Given the description of an element on the screen output the (x, y) to click on. 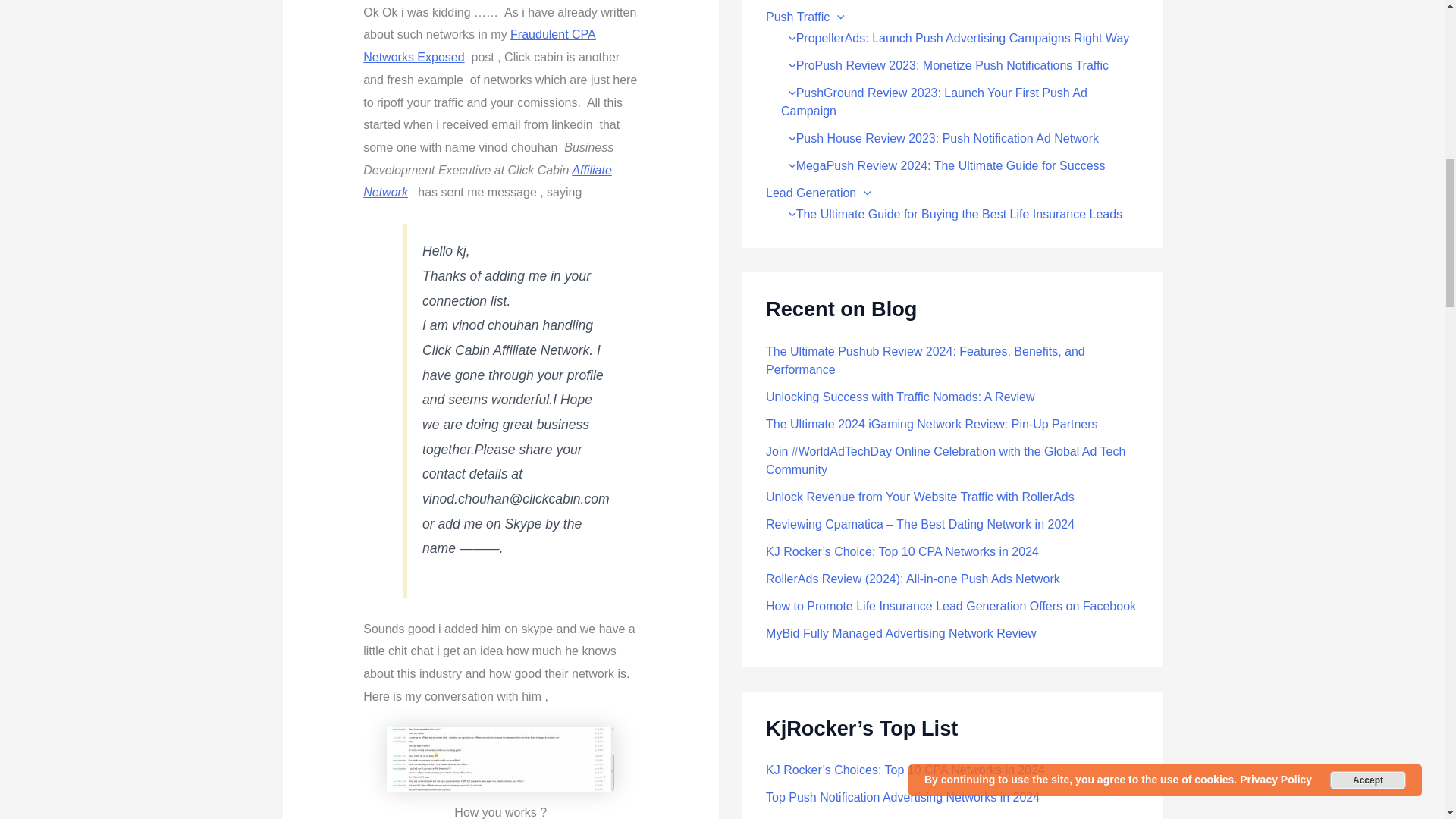
Affiliate Network (486, 181)
Fraudulent CPA Networks Exposed (478, 45)
